Given the description of an element on the screen output the (x, y) to click on. 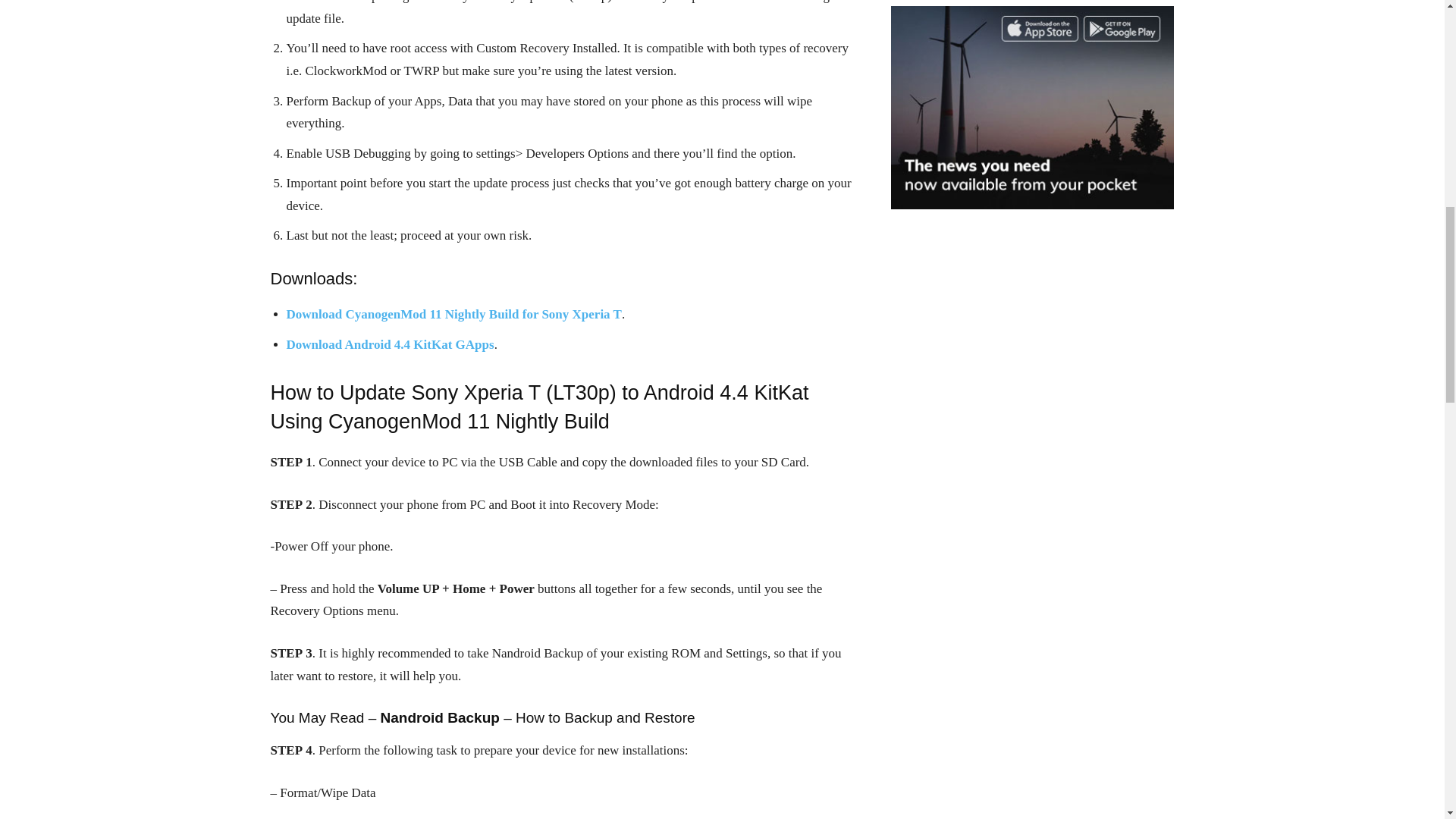
How to Perform and Restore Nandroid Backup on Android (537, 717)
